Given the description of an element on the screen output the (x, y) to click on. 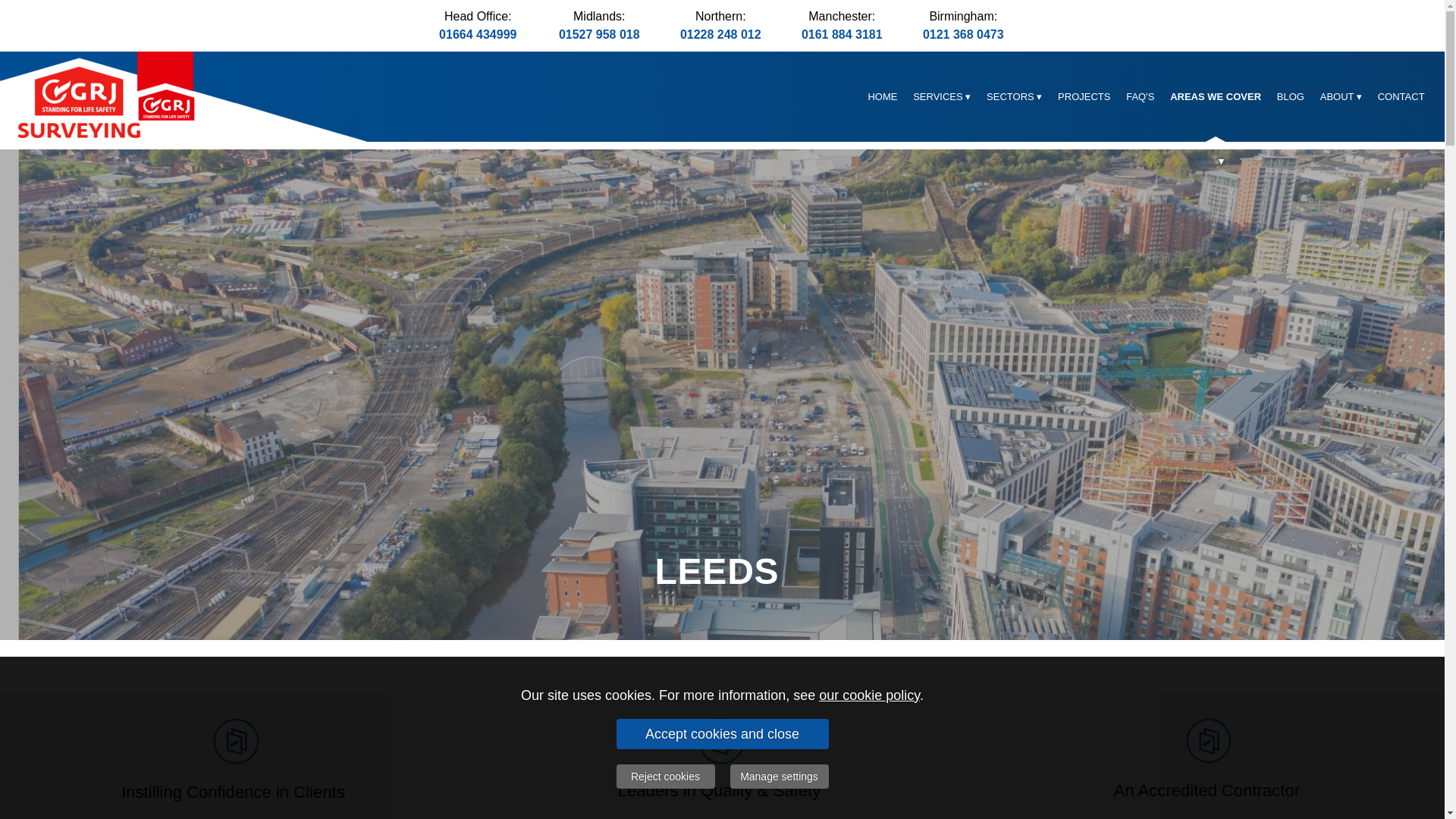
0121 368 0473 (963, 33)
0161 884 3181 (842, 33)
SERVICES (941, 96)
AREAS WE COVER (1215, 96)
HOME (882, 96)
01228 248 012 (720, 33)
01664 434999 (477, 33)
01527 958 018 (599, 33)
PROJECTS (1083, 96)
